Given the description of an element on the screen output the (x, y) to click on. 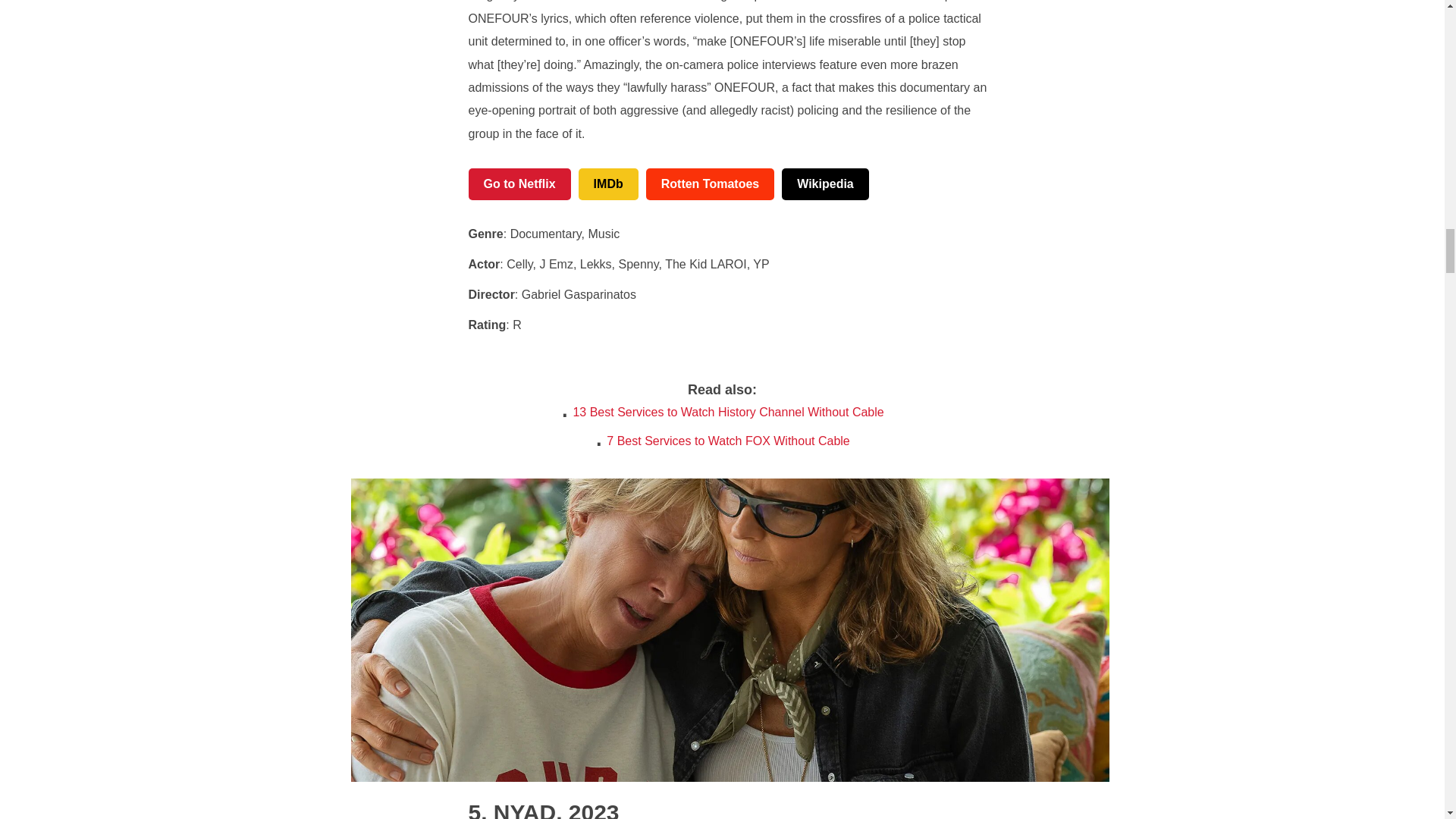
NYAD (512, 809)
